Given the description of an element on the screen output the (x, y) to click on. 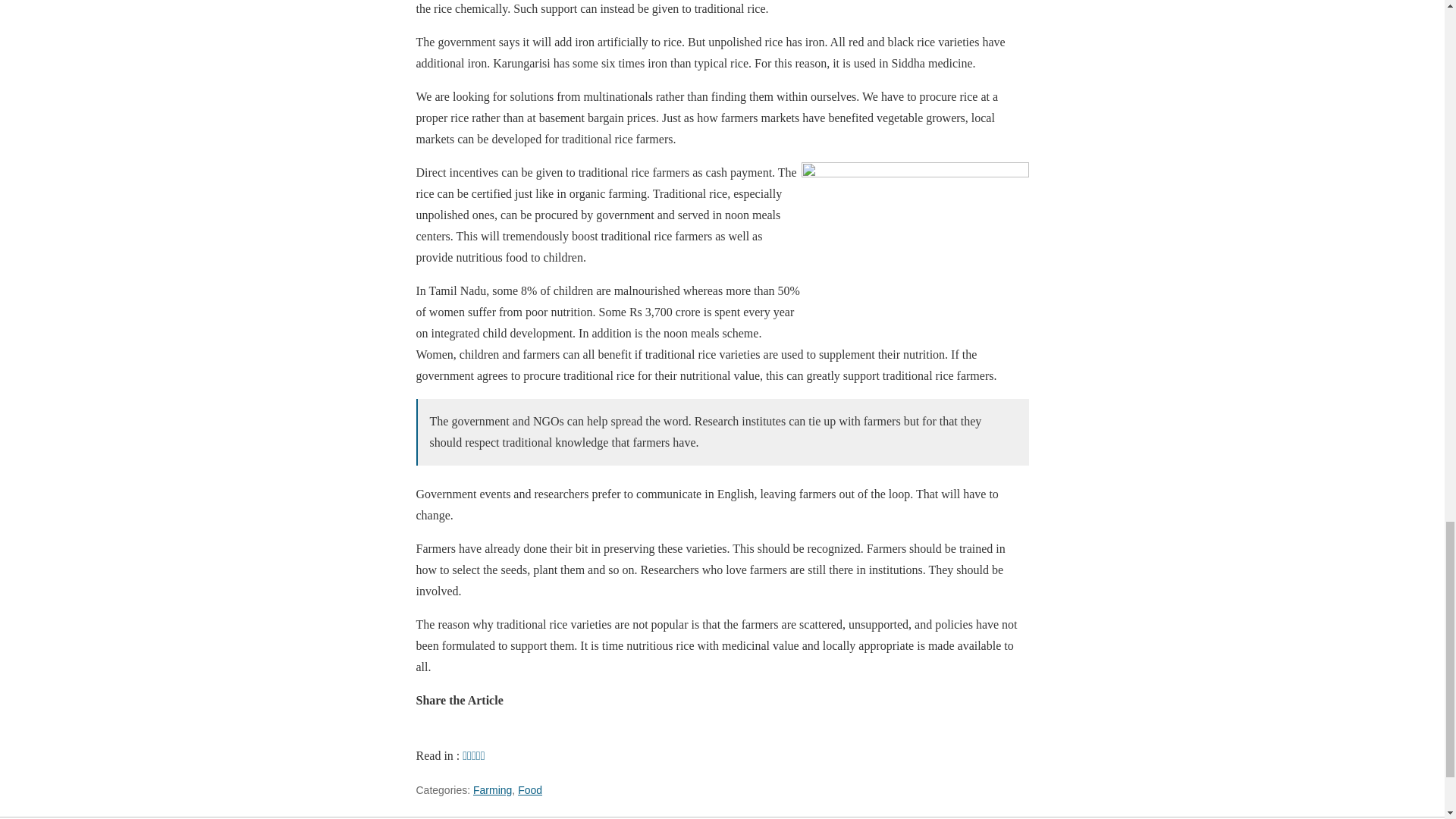
Farming (492, 789)
Whatsapp (431, 734)
Telegram (464, 734)
Pinterest (498, 734)
Facebook (531, 734)
Twitter (565, 734)
Food (529, 789)
